Given the description of an element on the screen output the (x, y) to click on. 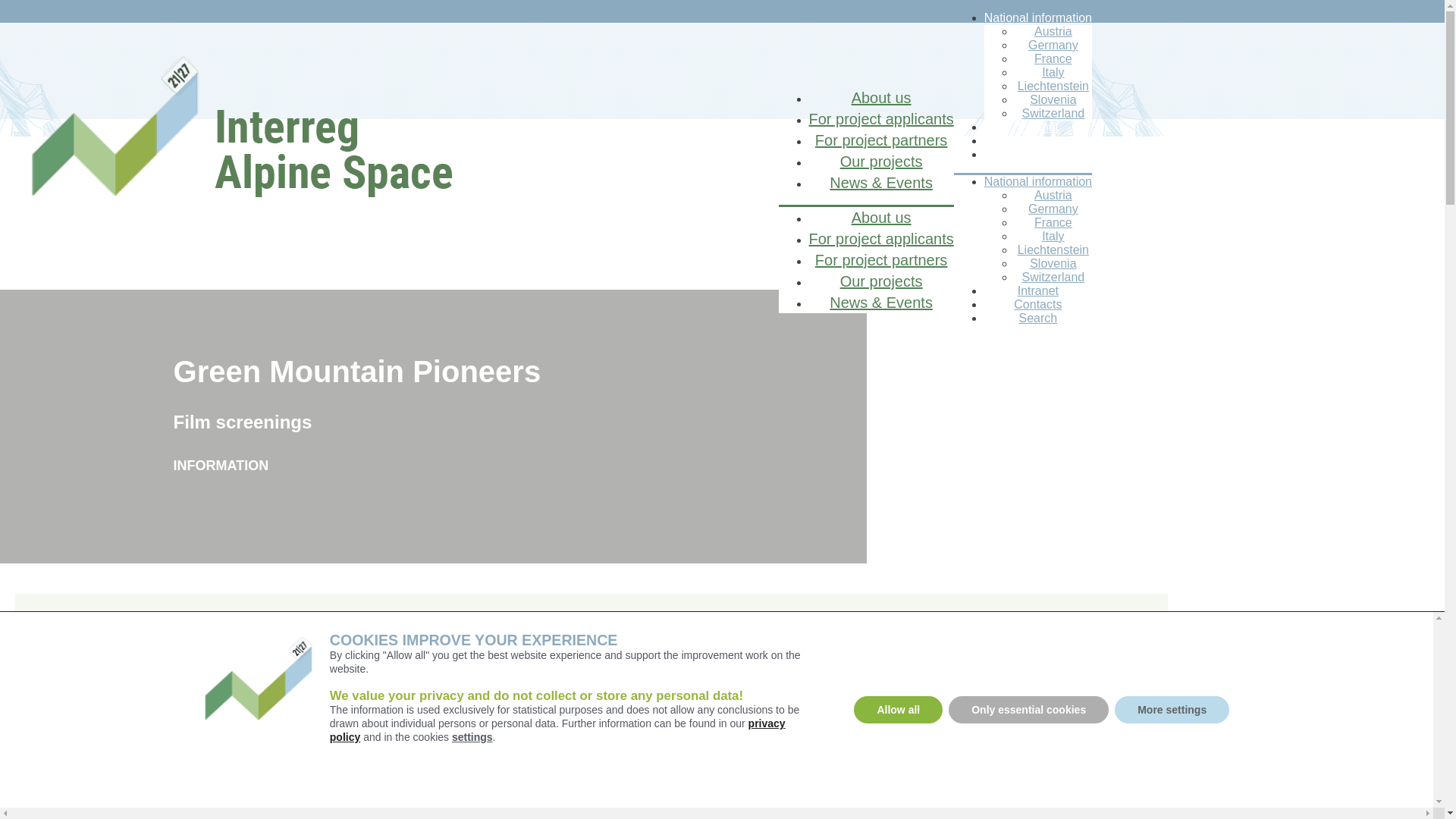
Germany (1052, 44)
Slovenia (1052, 99)
'Green Mountain Pioneers' Film Trailer (592, 762)
Austria (1052, 31)
ASP - LOGO draft (265, 143)
France (1052, 58)
National information (1038, 17)
Liechtenstein (1053, 85)
Italy (1053, 72)
